Given the description of an element on the screen output the (x, y) to click on. 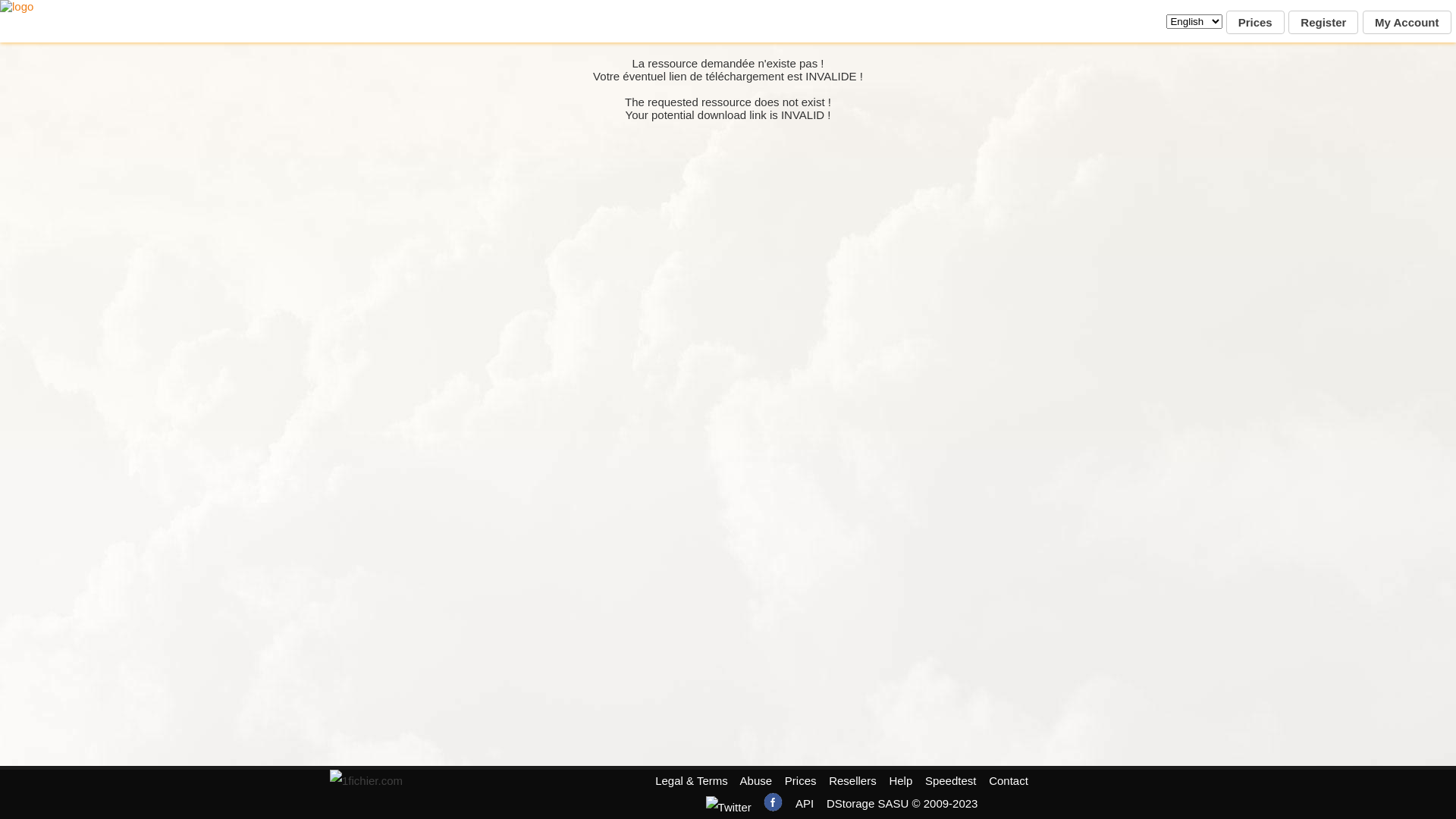
API Element type: text (804, 803)
Register Element type: text (1323, 22)
Speedtest Element type: text (950, 780)
Help Element type: text (900, 780)
Abuse Element type: text (756, 780)
Prices Element type: text (1255, 22)
Contact Element type: text (1008, 780)
Legal & Terms Element type: text (691, 780)
Prices Element type: text (800, 780)
My Account Element type: text (1406, 22)
Resellers Element type: text (852, 780)
